Given the description of an element on the screen output the (x, y) to click on. 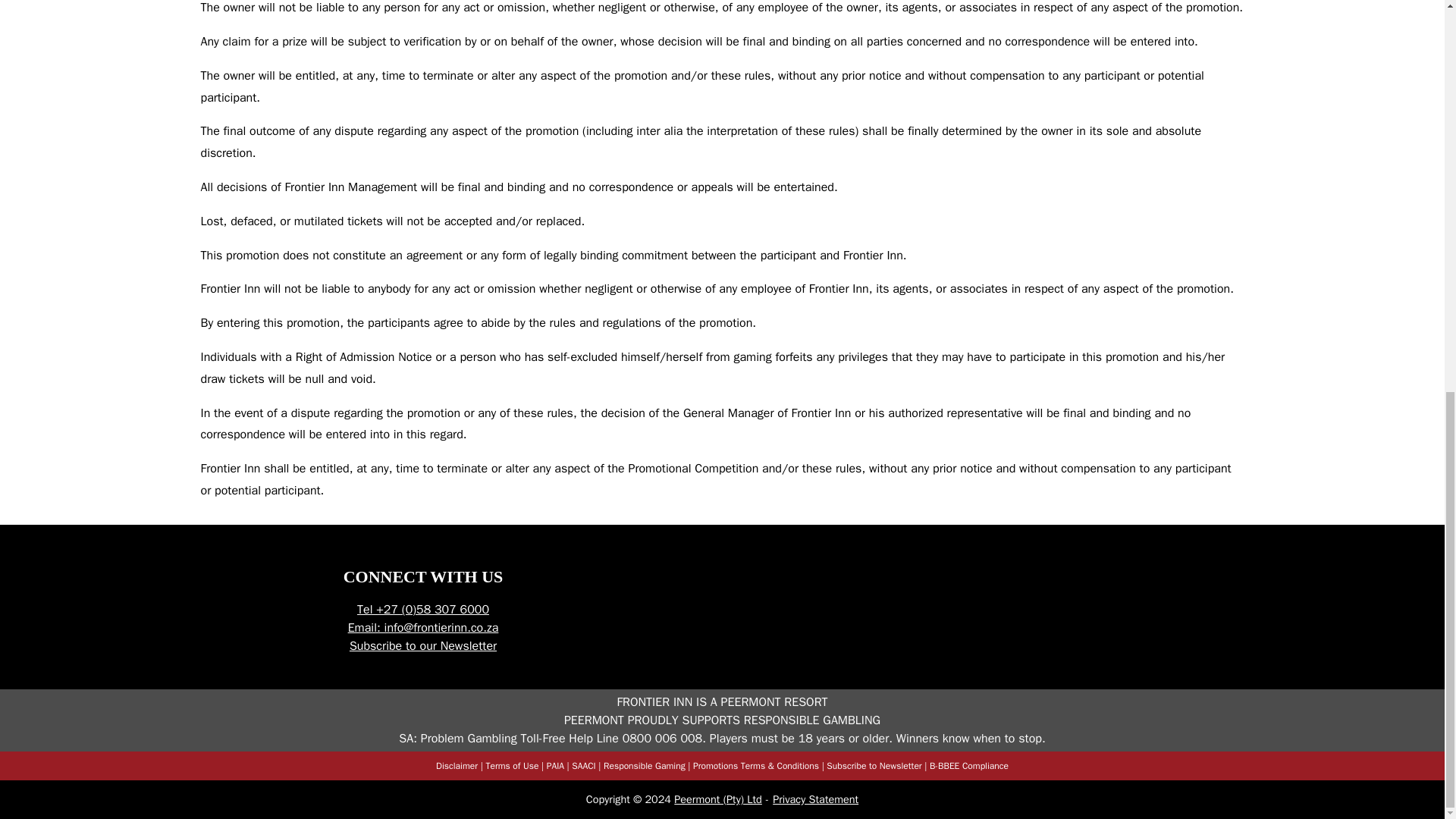
Khoroni Footer Logo (1222, 569)
Graceland Footer Logo (932, 568)
Umfolozi Footer Logo (661, 643)
The Grand Palm Footer Logo (786, 568)
Peermont Logo Footer (140, 610)
Emperors Footer Logo (640, 569)
Mondior Gaborone Foot Logo (1368, 569)
Rio Footer Logo1 (832, 643)
Frontier Footer Logo (1076, 569)
Subscribe to our Newsletter (422, 645)
